Given the description of an element on the screen output the (x, y) to click on. 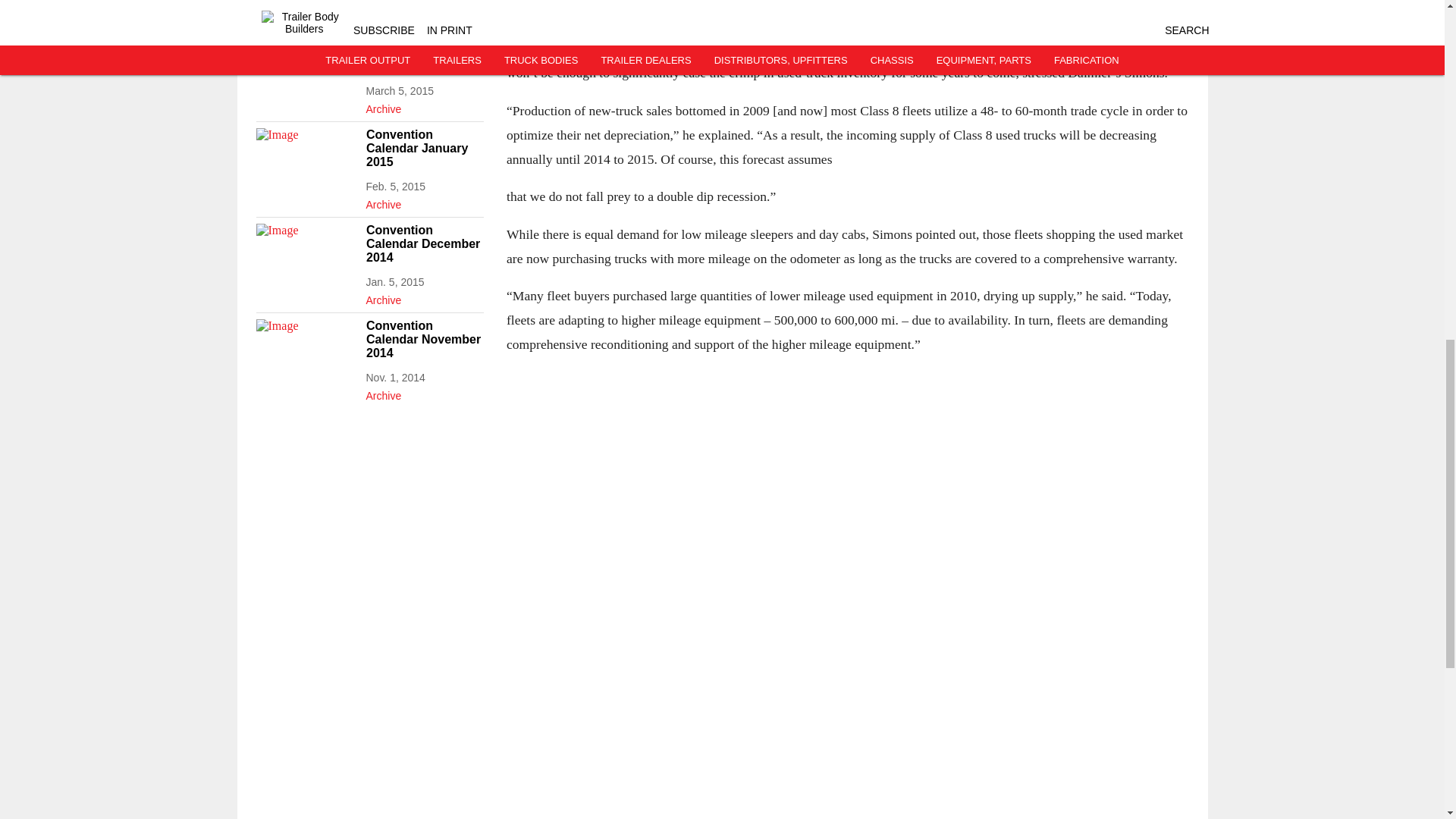
Image (307, 60)
Convention Calendar January 2015 (424, 147)
Archive (424, 201)
Archive (424, 106)
Convention Calendar February 2015 (424, 52)
Archive (424, 393)
Archive (424, 10)
Image (307, 347)
Image (307, 156)
Convention Calendar November 2014 (424, 339)
